Given the description of an element on the screen output the (x, y) to click on. 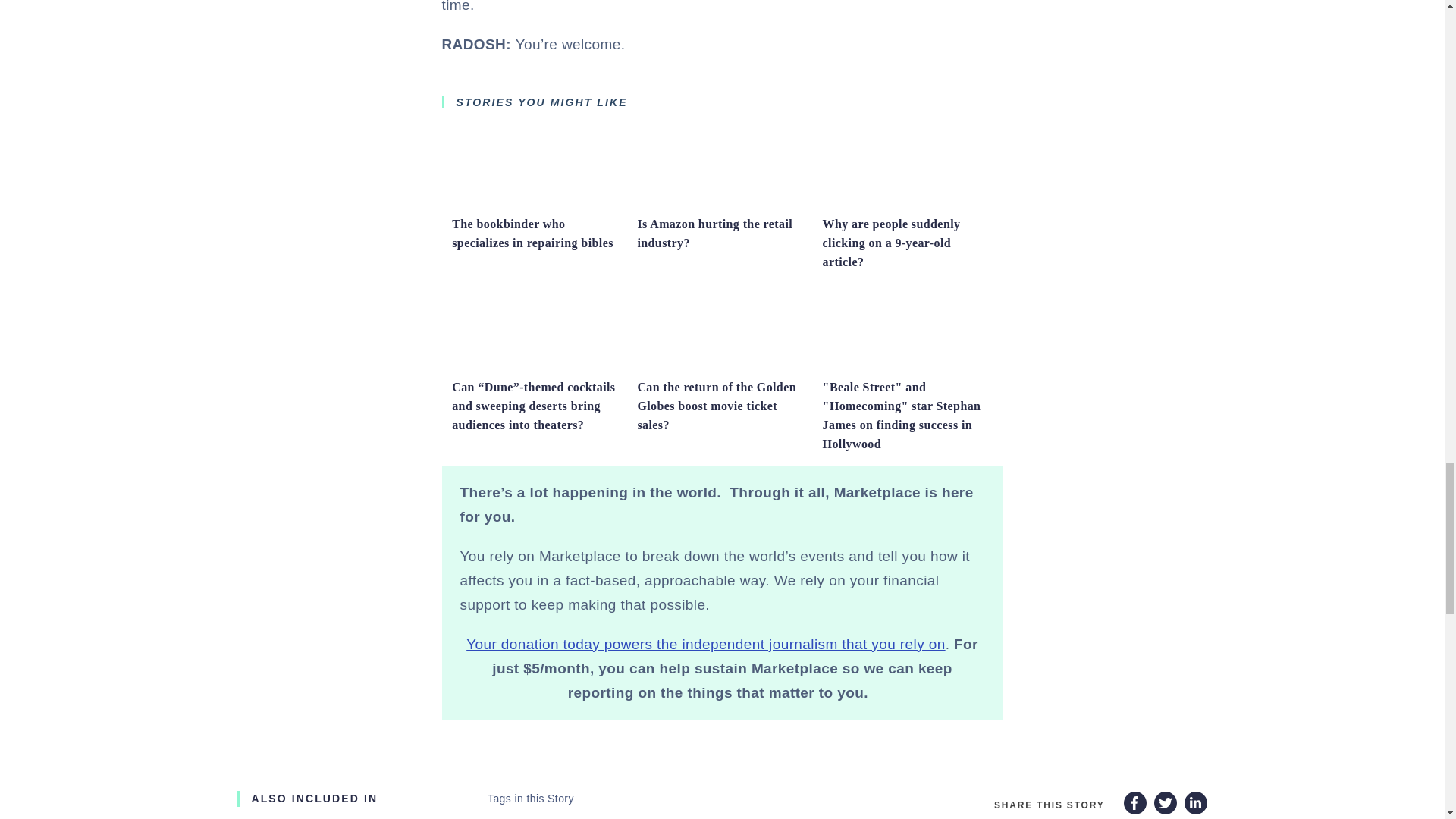
The bookbinder who specializes in repairing bibles (536, 201)
The bookbinder who specializes in repairing bibles (531, 233)
Is Amazon hurting the retail industry? (721, 201)
